Given the description of an element on the screen output the (x, y) to click on. 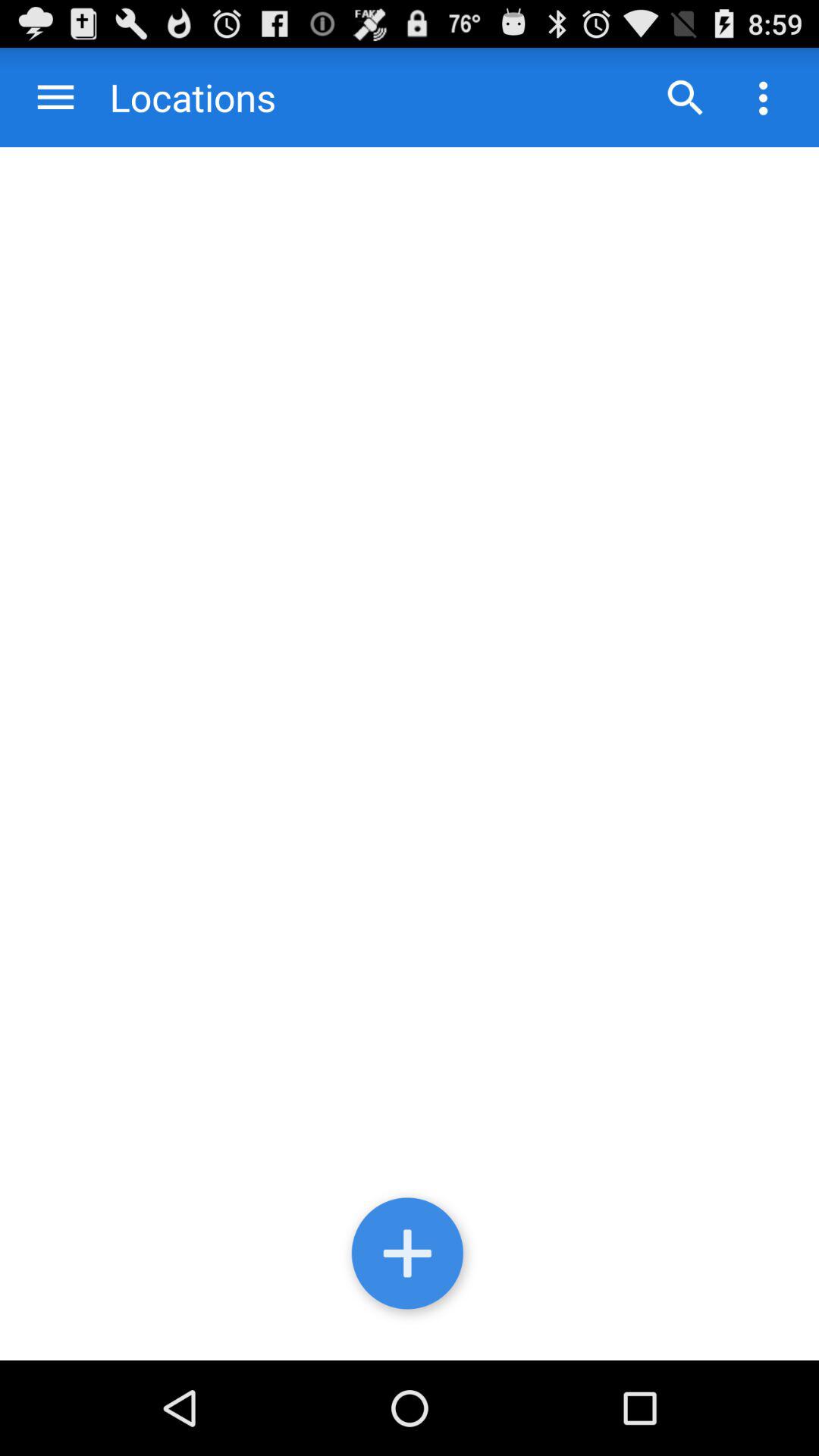
click the locations item (177, 96)
